Given the description of an element on the screen output the (x, y) to click on. 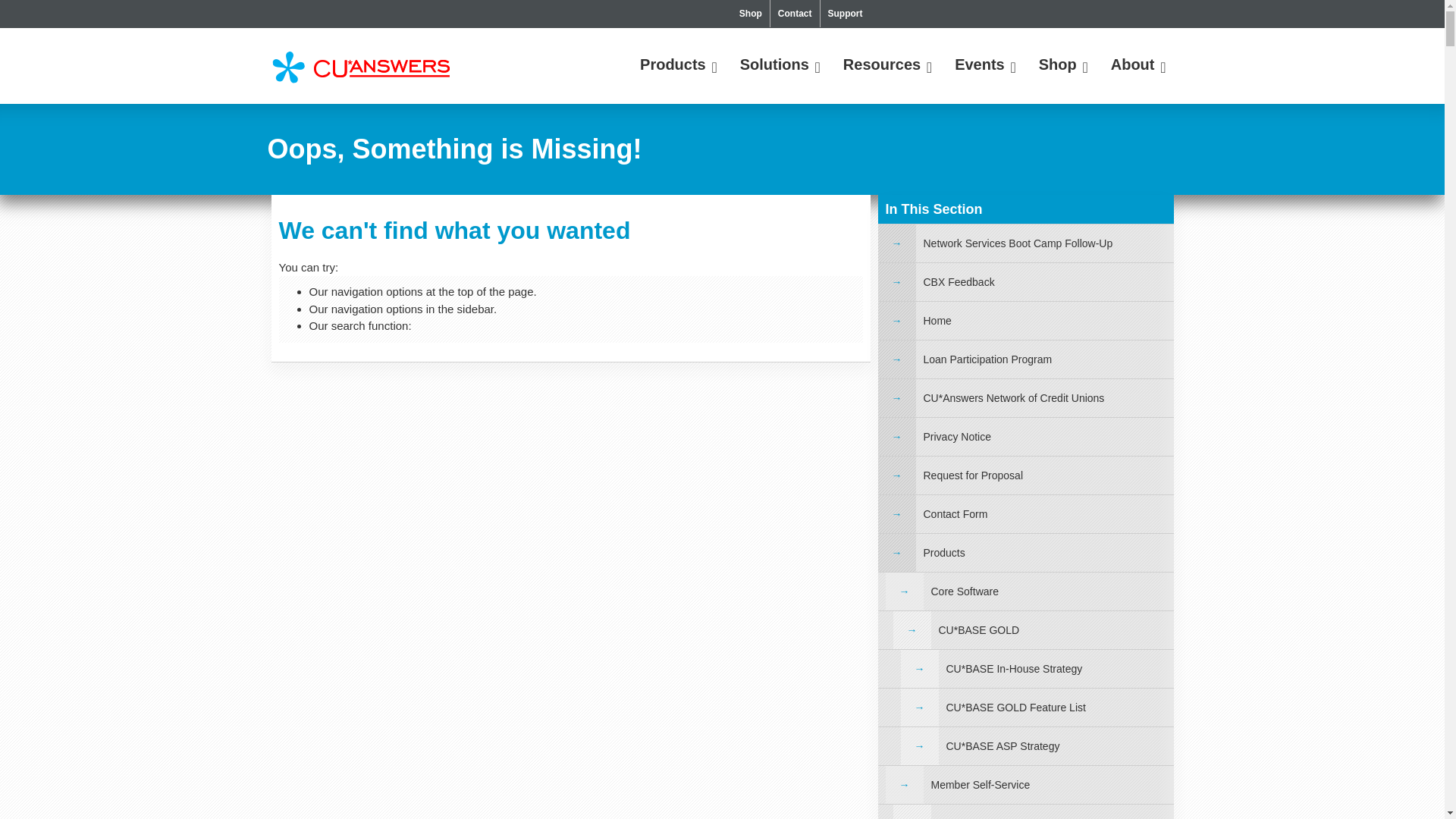
Shop (751, 13)
Solutions (776, 64)
Contact (795, 13)
Support (845, 13)
Products (674, 64)
